Given the description of an element on the screen output the (x, y) to click on. 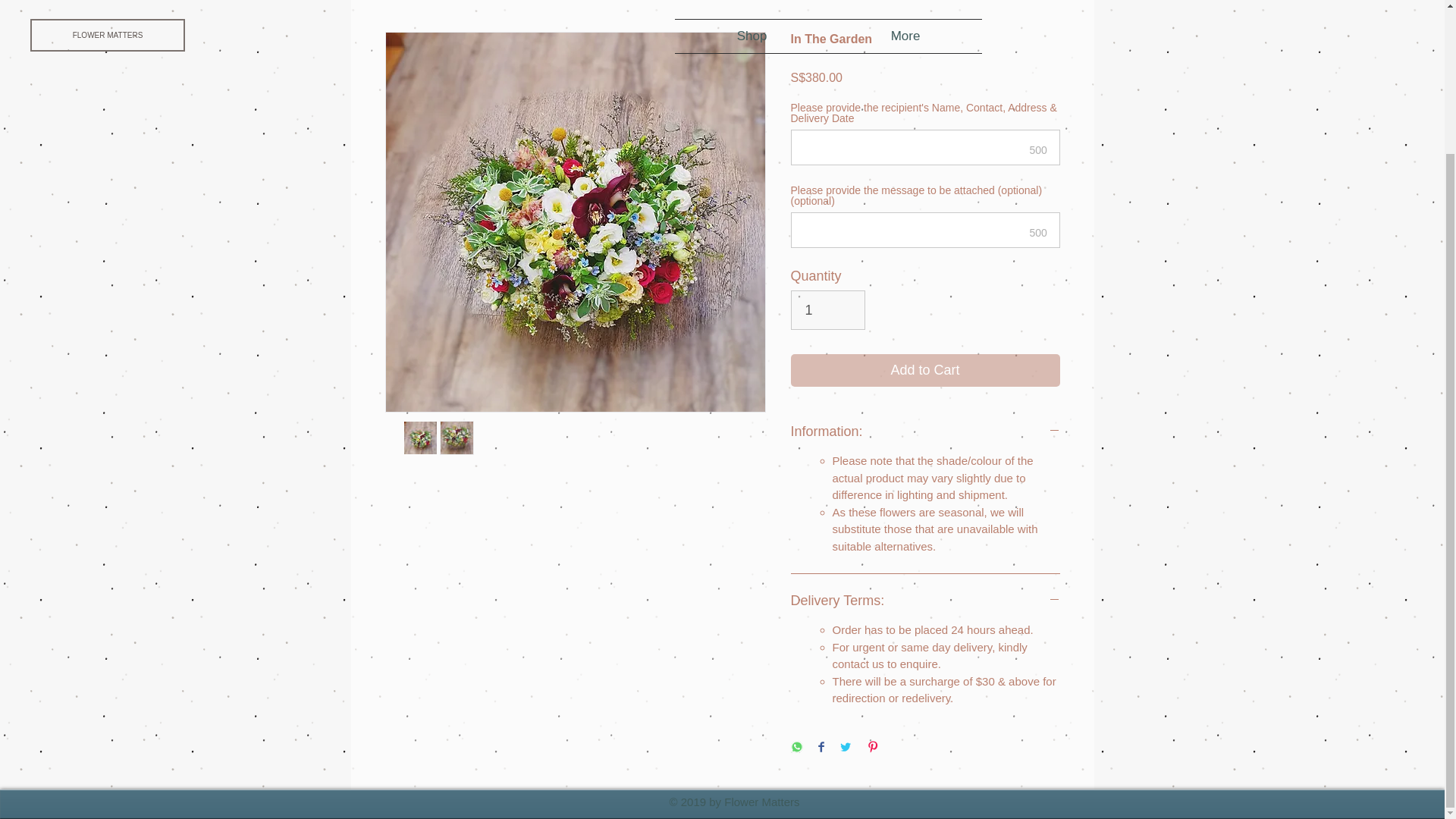
Information: (924, 431)
1 (827, 310)
Add to Cart (924, 369)
Delivery Terms: (924, 600)
